Given the description of an element on the screen output the (x, y) to click on. 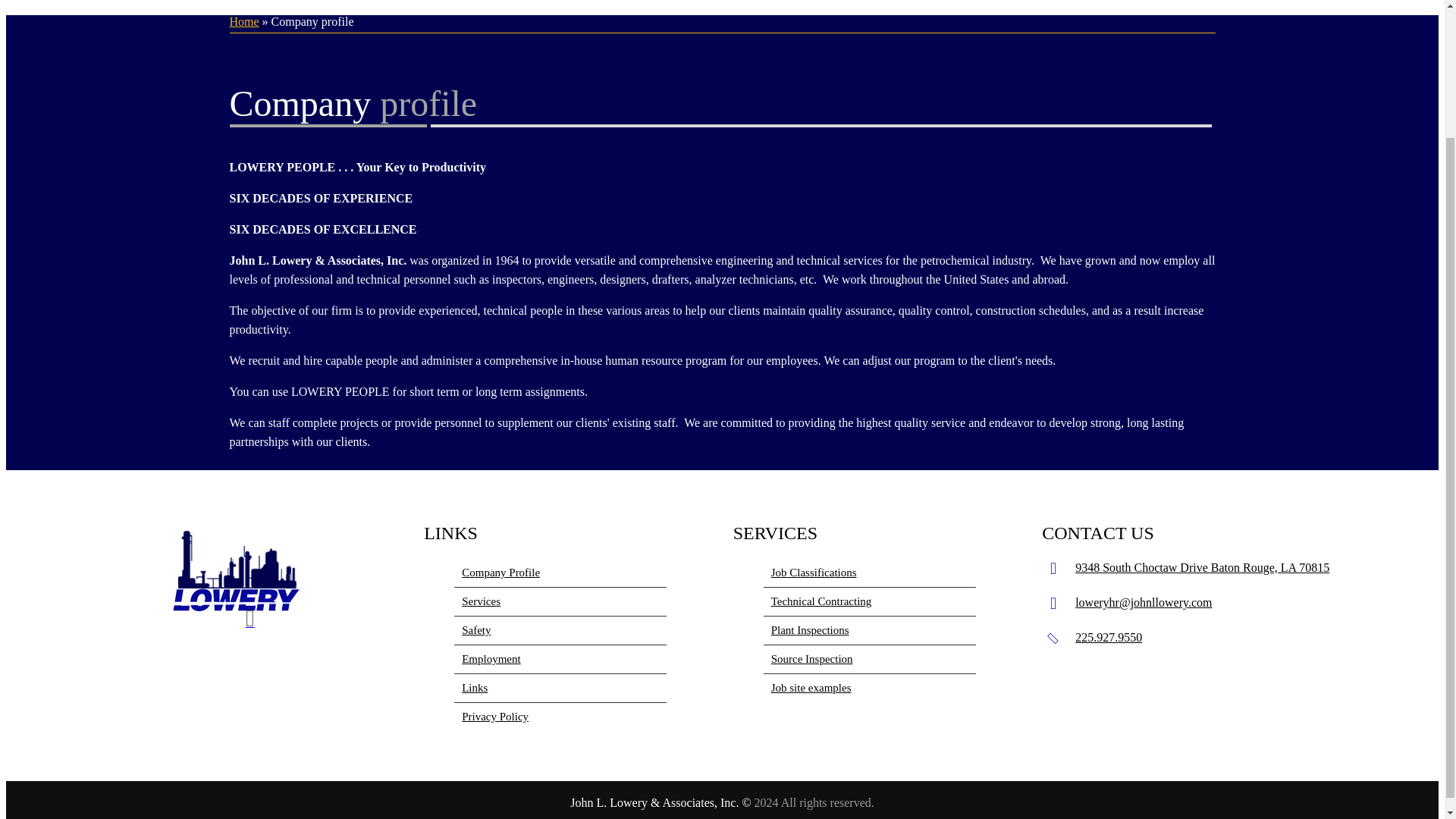
Safety (560, 630)
Privacy Policy (560, 716)
Technical Contracting (868, 602)
Company Profile (560, 573)
Plant Inspections (868, 630)
Employment (560, 659)
Job site examples (868, 687)
Services (560, 602)
Job Classifications (868, 573)
Home (243, 21)
225.927.9550 (1108, 636)
9348 South Choctaw Drive Baton Rouge, LA 70815 (1202, 567)
Links (560, 688)
Source Inspection (868, 659)
